Given the description of an element on the screen output the (x, y) to click on. 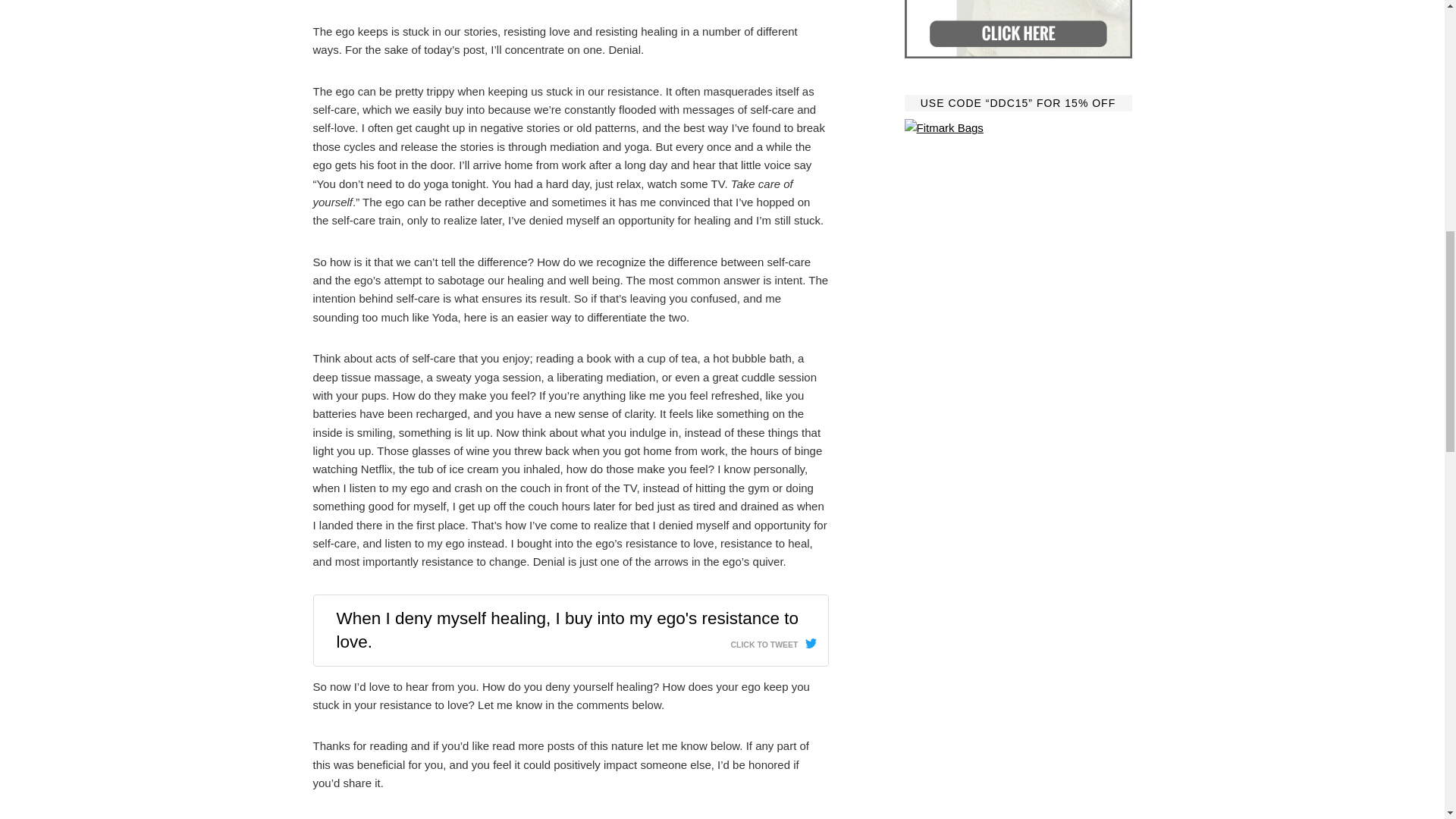
CLICK TO TWEET (772, 640)
